Given the description of an element on the screen output the (x, y) to click on. 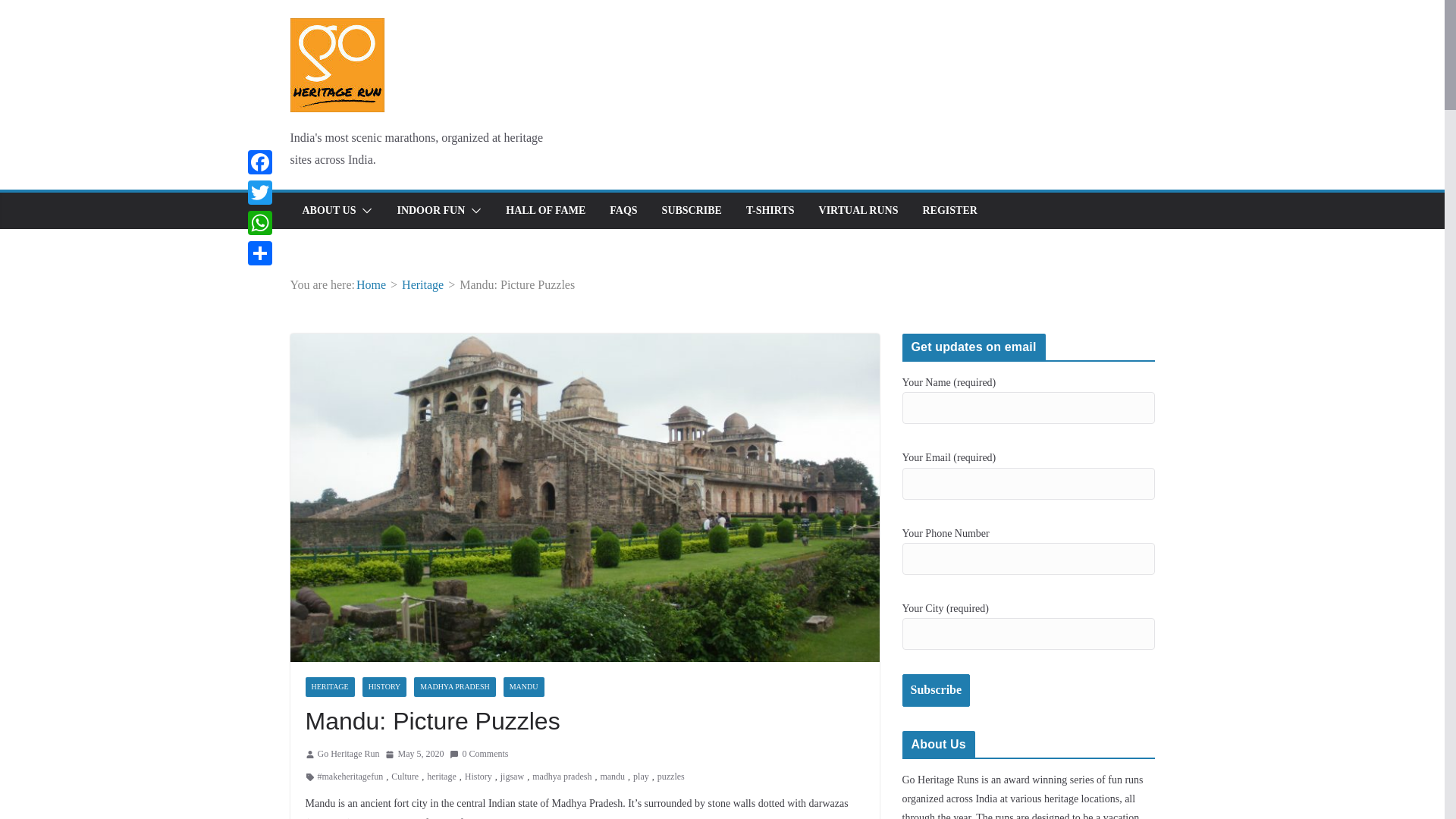
HERITAGE (328, 686)
11:37 am (414, 754)
T-SHIRTS (769, 210)
VIRTUAL RUNS (858, 210)
ABOUT US (328, 210)
madhya pradesh (561, 777)
May 5, 2020 (414, 754)
0 Comments (478, 754)
mandu (611, 777)
Culture (405, 777)
play (641, 777)
Twitter (259, 192)
History (478, 777)
FAQS (623, 210)
Go Heritage Run (347, 754)
